Given the description of an element on the screen output the (x, y) to click on. 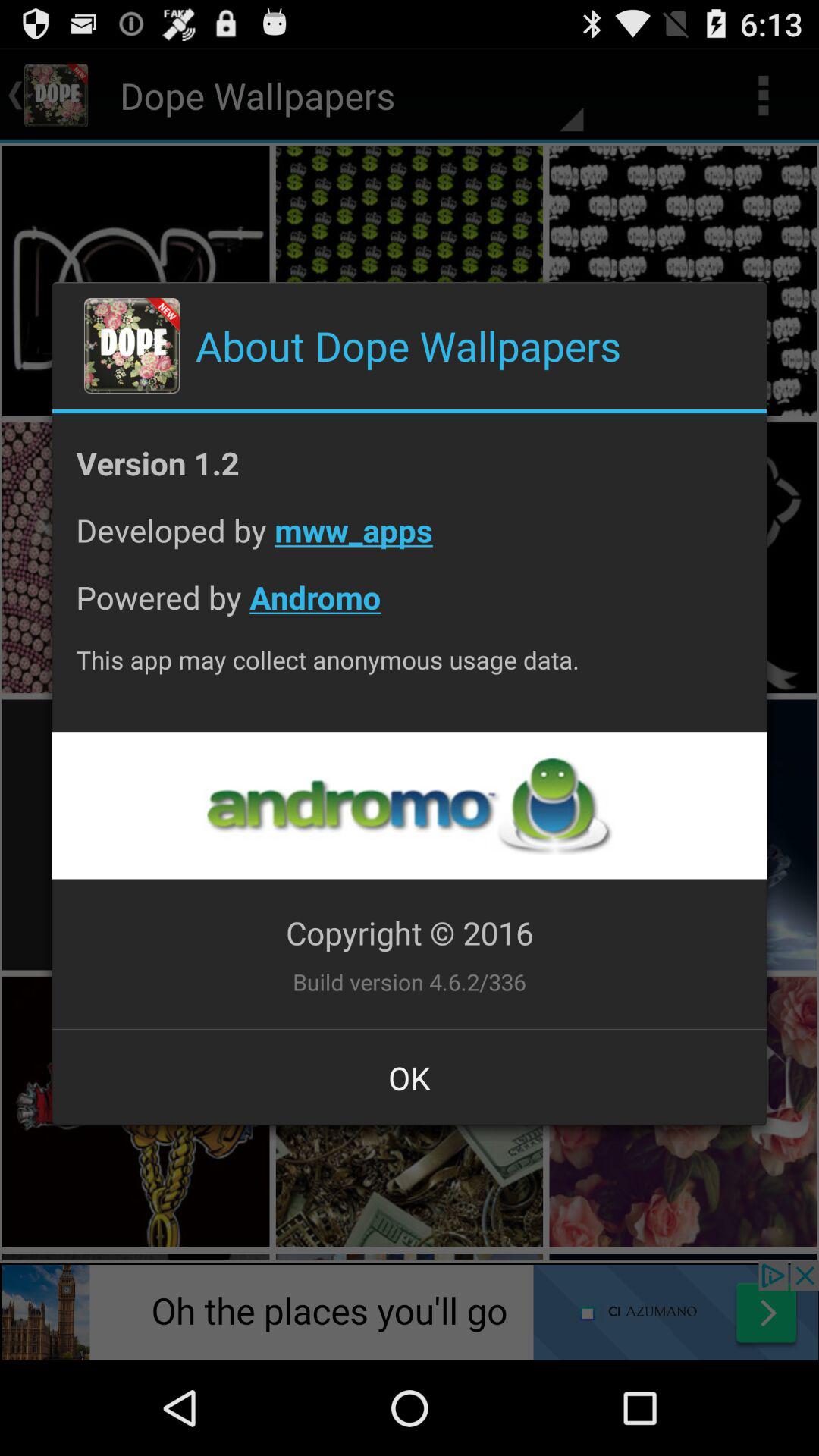
flip until the developed by mww_apps item (409, 541)
